Given the description of an element on the screen output the (x, y) to click on. 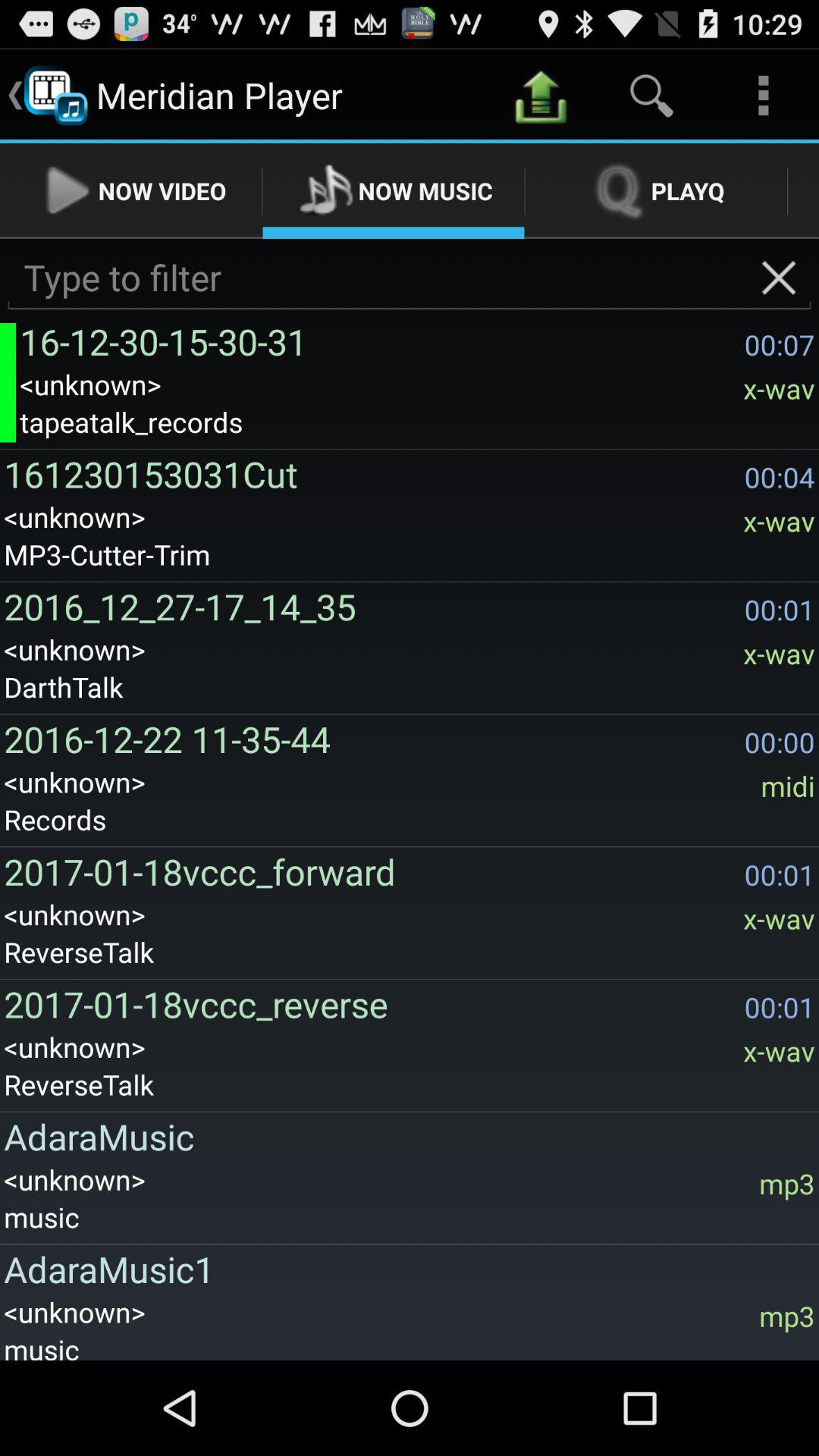
filter songs to include/exclude (409, 277)
